Given the description of an element on the screen output the (x, y) to click on. 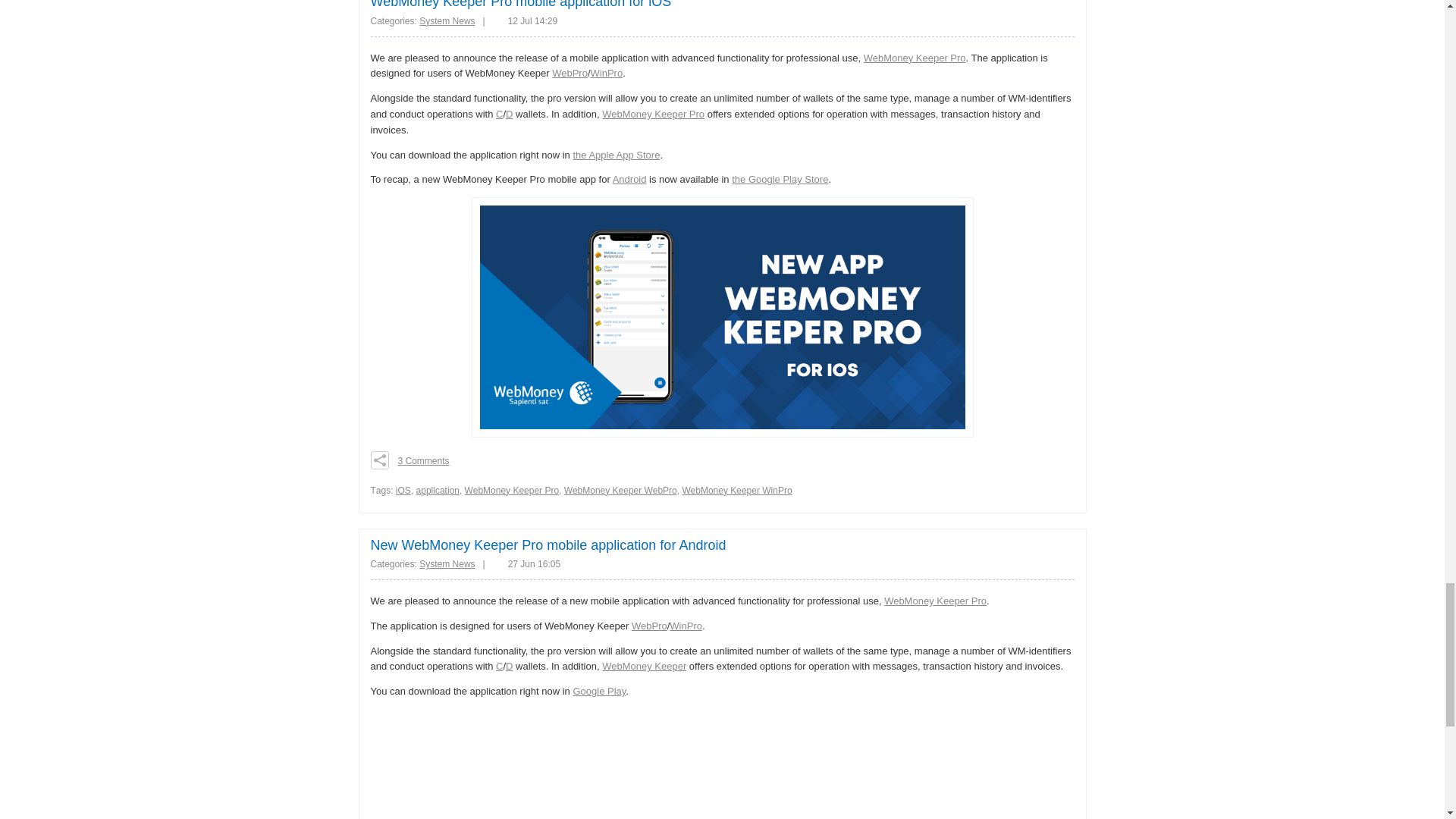
WebMoney Keeper Pro mobile application for iOS (520, 4)
New WebMoney Keeper Pro mobile application for Android (547, 544)
